Given the description of an element on the screen output the (x, y) to click on. 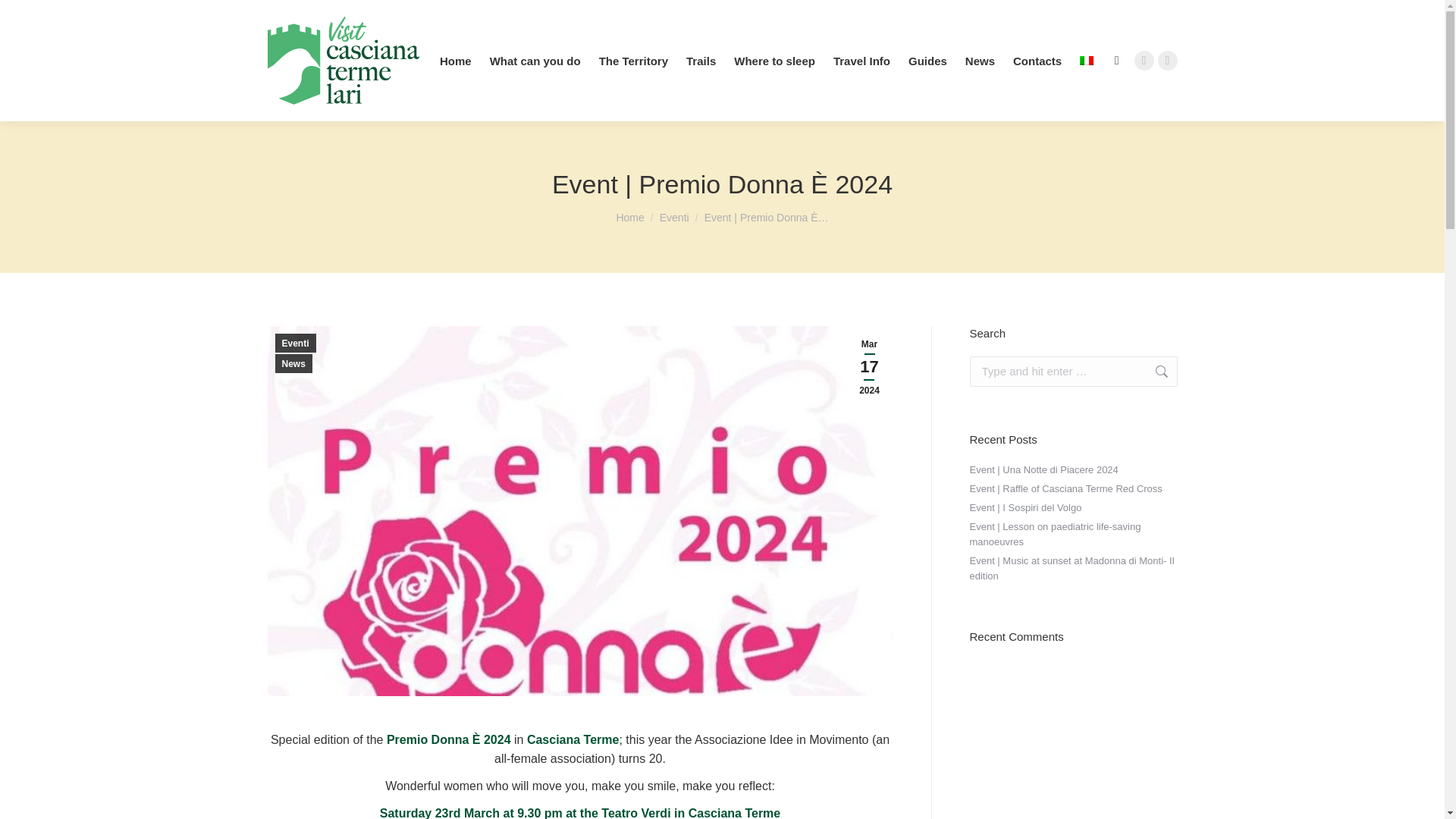
Facebook page opens in new window (1144, 60)
Go! (24, 16)
Home (629, 217)
What can you do (534, 60)
Instagram page opens in new window (1166, 60)
Where to sleep (774, 60)
Instagram page opens in new window (1166, 60)
Go! (1153, 371)
Eventi (673, 217)
